Given the description of an element on the screen output the (x, y) to click on. 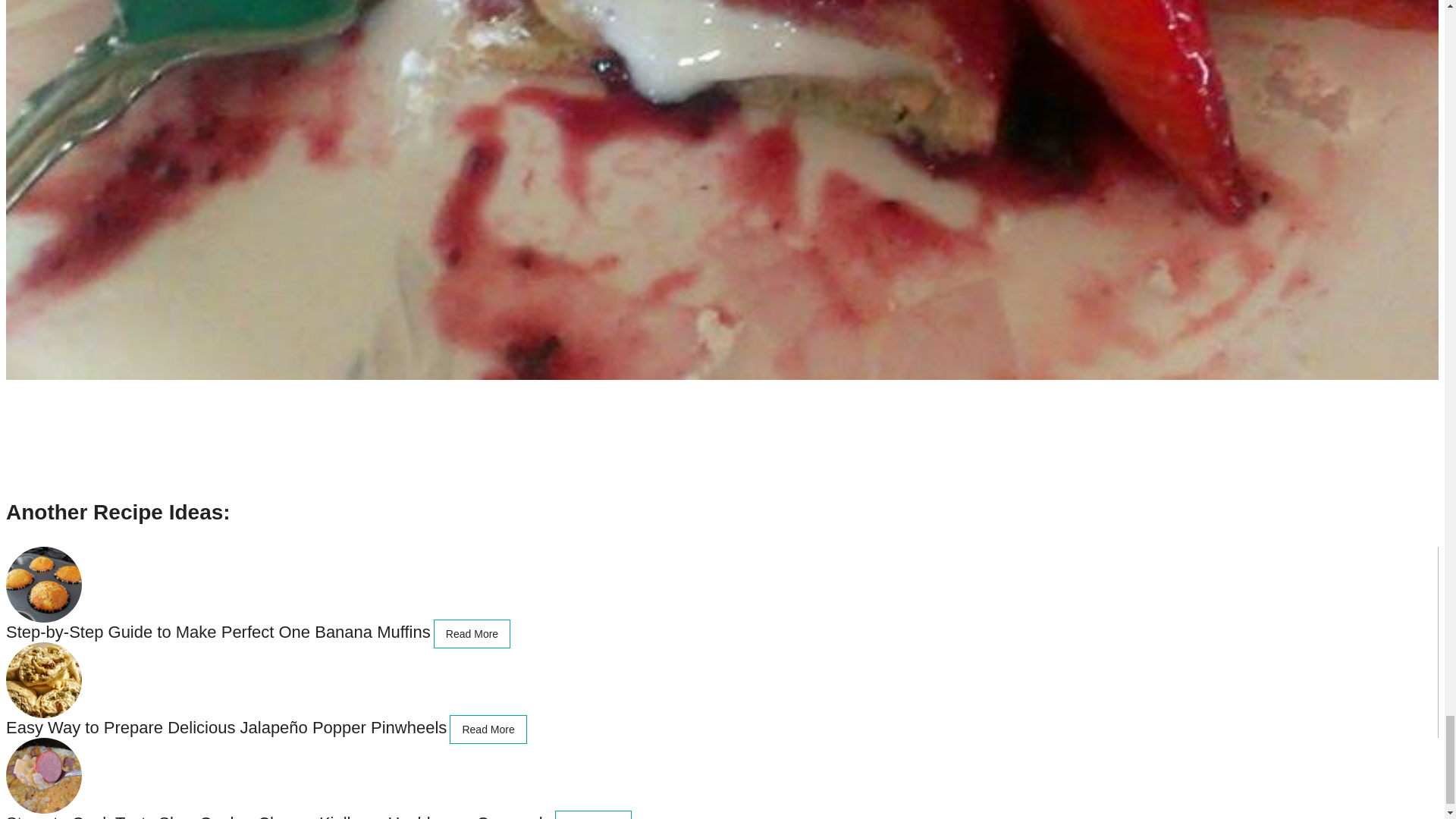
Read More (472, 633)
Read More (487, 728)
Step-by-Step Guide to Make Perfect One Banana Muffins (217, 631)
Read More (592, 814)
